Given the description of an element on the screen output the (x, y) to click on. 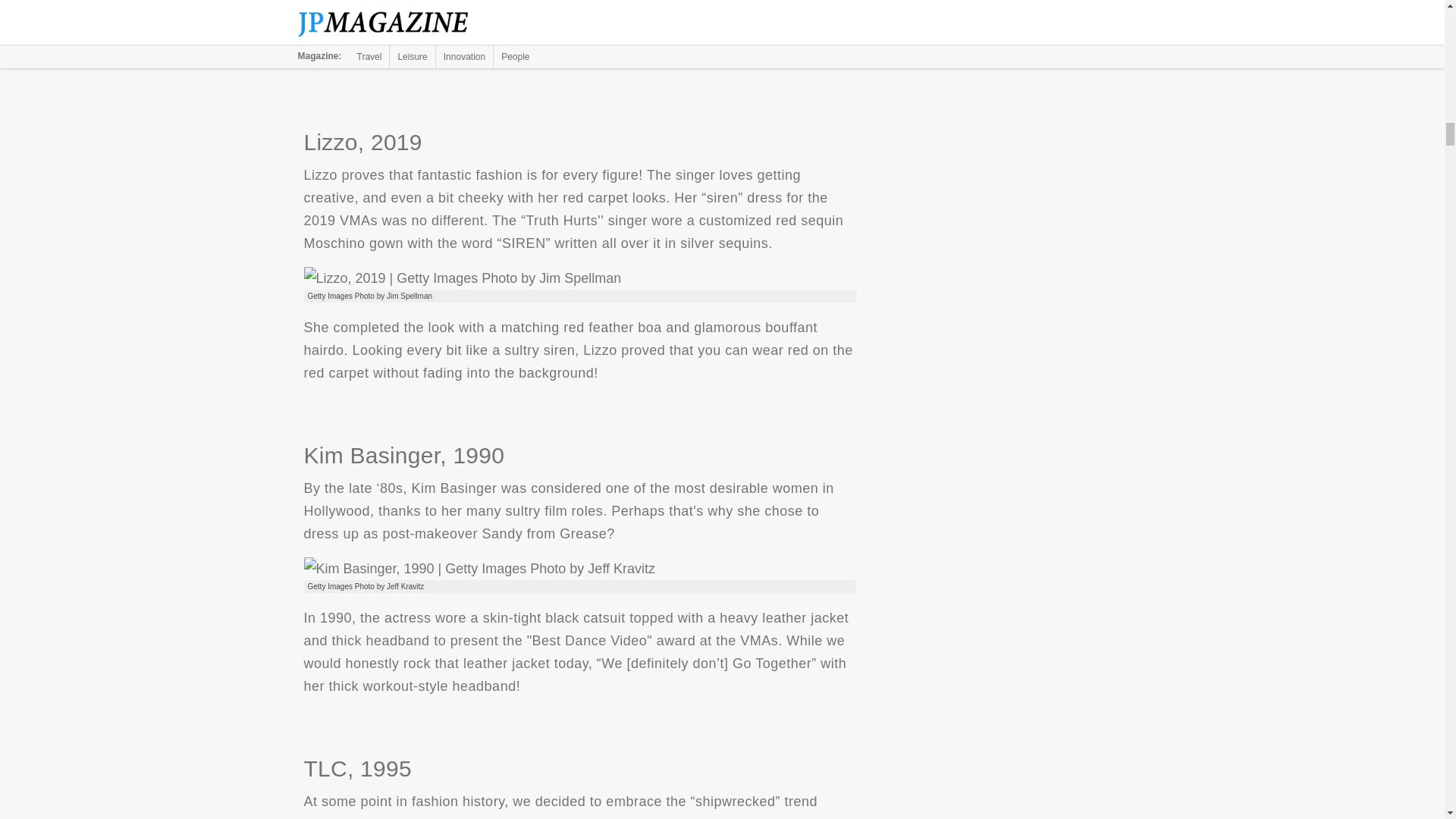
Lizzo, 2019 (461, 277)
Kim Basinger, 1990 (478, 568)
